Given the description of an element on the screen output the (x, y) to click on. 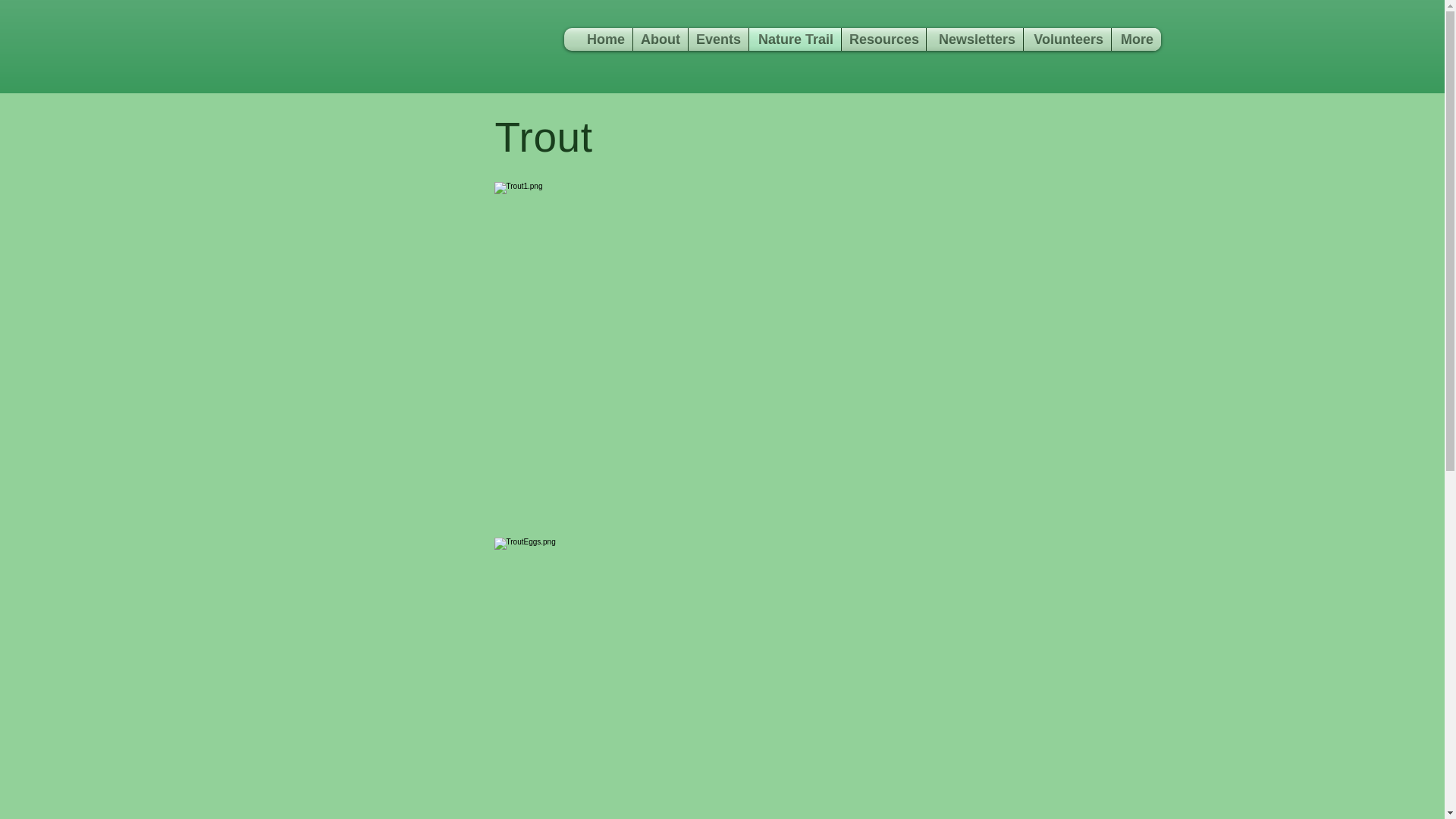
Home (604, 38)
Nature Trail (795, 38)
Volunteers (1066, 38)
Resources (883, 38)
Newsletters (974, 38)
Events (718, 38)
About (660, 38)
